Given the description of an element on the screen output the (x, y) to click on. 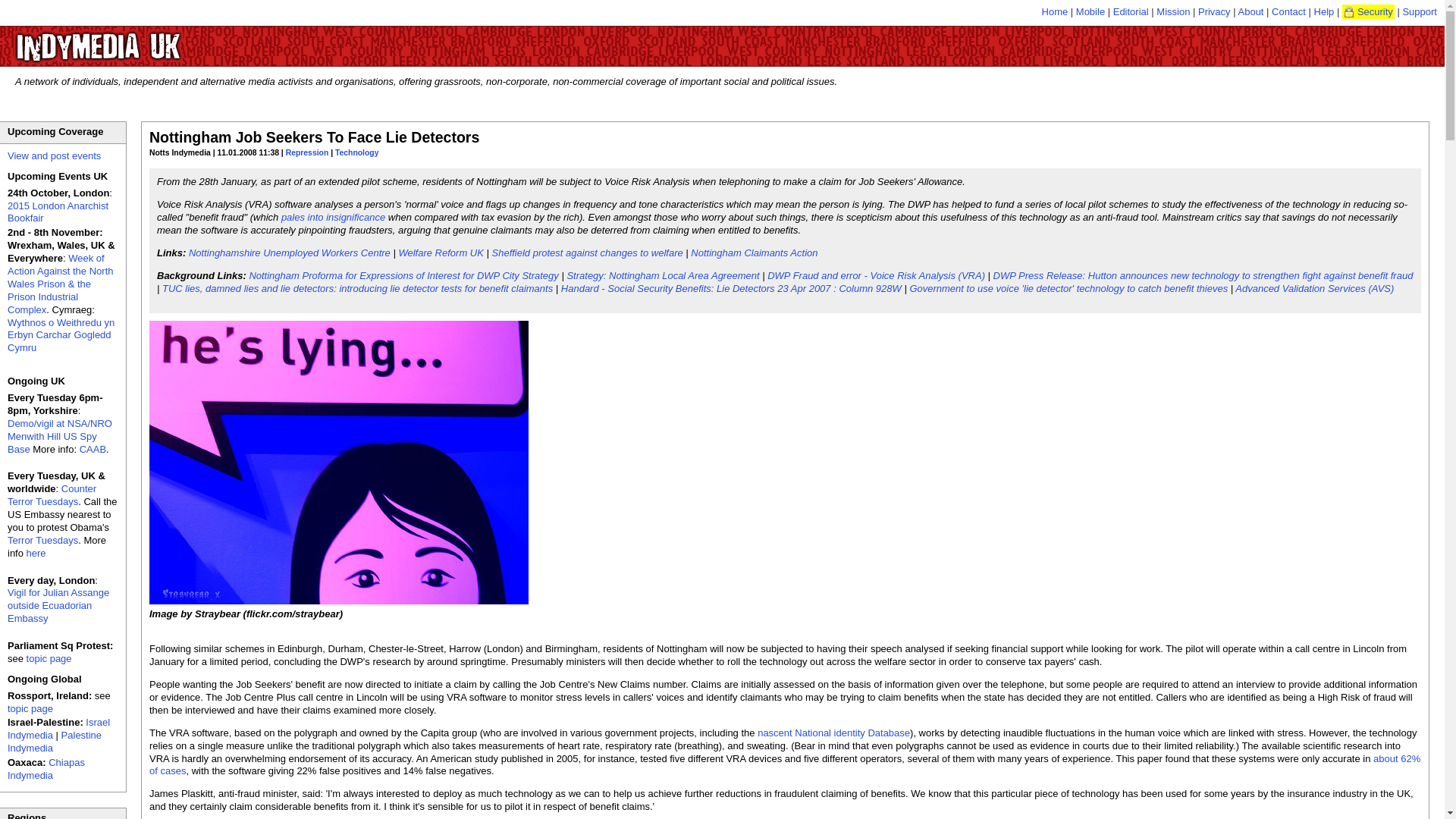
UK Indymedia (144, 39)
Mission (1172, 11)
Home (1055, 11)
About (1250, 11)
Welfare Reform UK (440, 252)
Support (1419, 11)
Mobile (1090, 11)
Nottinghamshire Unemployed Workers Centre (289, 252)
Contact (1288, 11)
Nottingham Claimants Action (753, 252)
Nottingham Job Seekers To Face Lie Detectors (314, 136)
2015 London Anarchist Bookfair (57, 211)
Help (1324, 11)
